Given the description of an element on the screen output the (x, y) to click on. 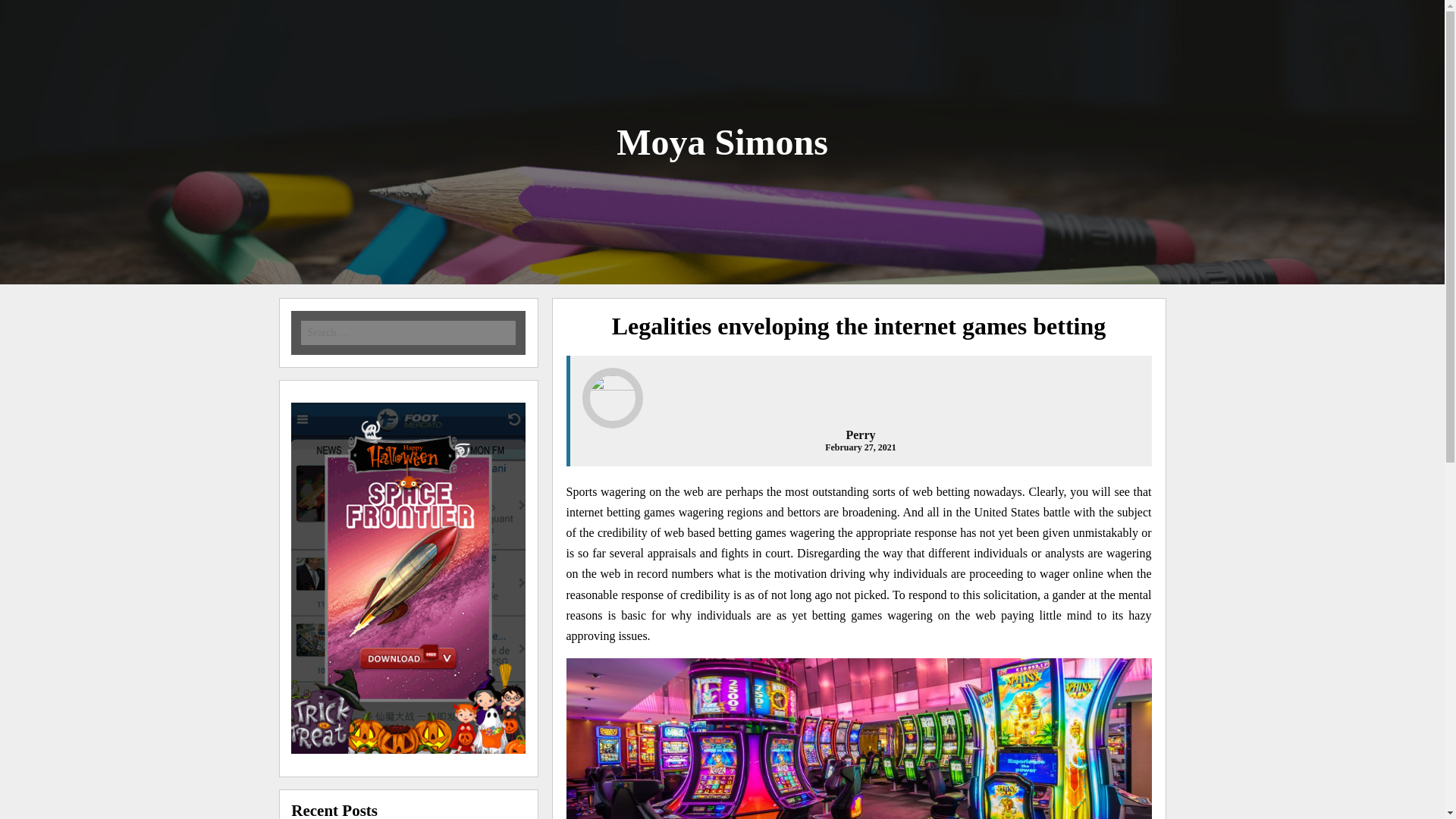
February 27, 2021 (860, 447)
View all posts by Perry (860, 434)
Perry (860, 434)
Search (216, 11)
Moya Simons (721, 142)
9:54 am (860, 447)
